Given the description of an element on the screen output the (x, y) to click on. 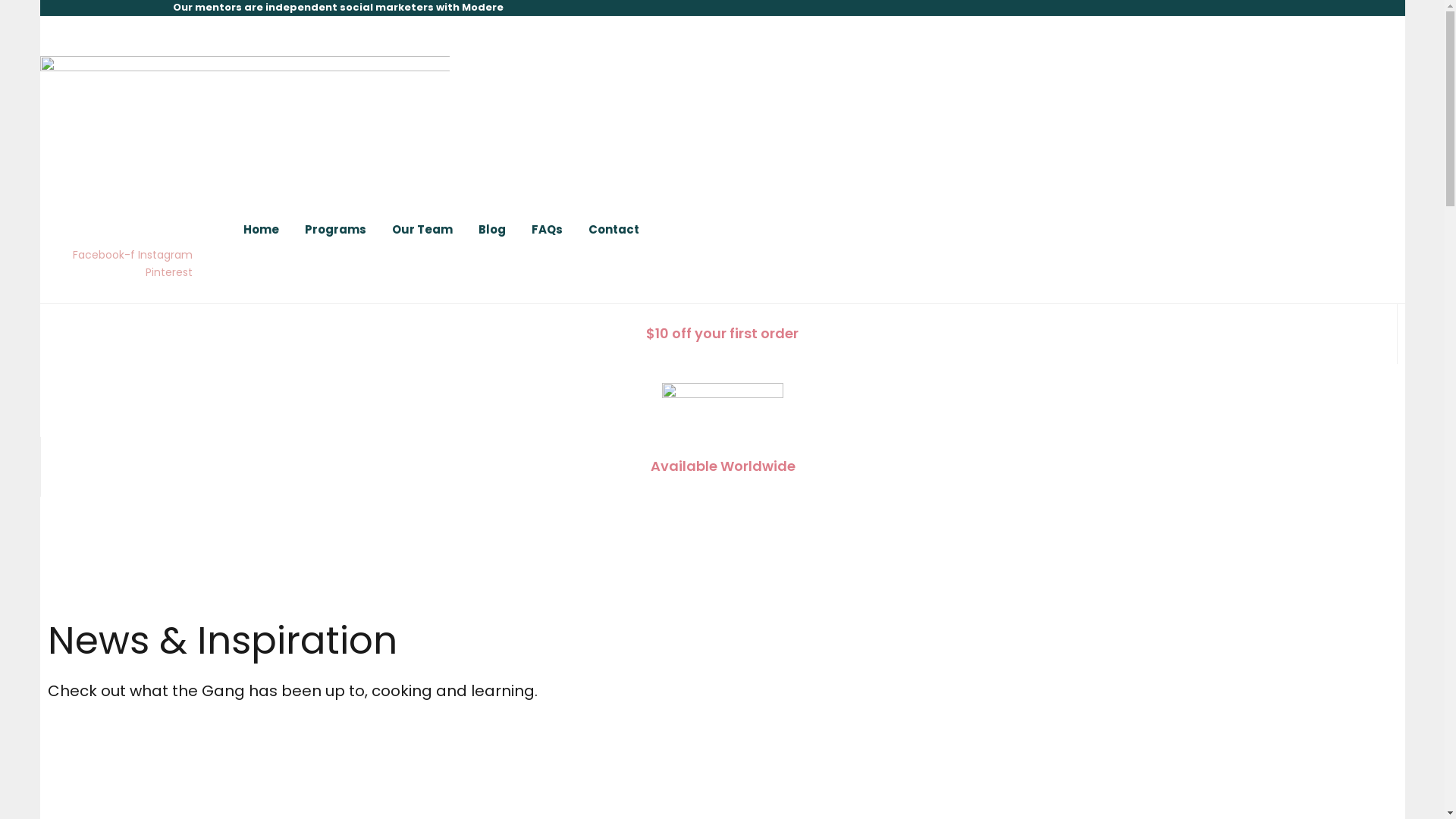
Instagram Element type: text (165, 254)
Contact Element type: text (613, 229)
FAQs Element type: text (547, 229)
Programs Element type: text (335, 229)
Our Team Element type: text (422, 229)
Facebook-f Element type: text (105, 254)
Blog Element type: text (492, 229)
Pinterest Element type: text (168, 271)
Home Element type: text (261, 229)
